Given the description of an element on the screen output the (x, y) to click on. 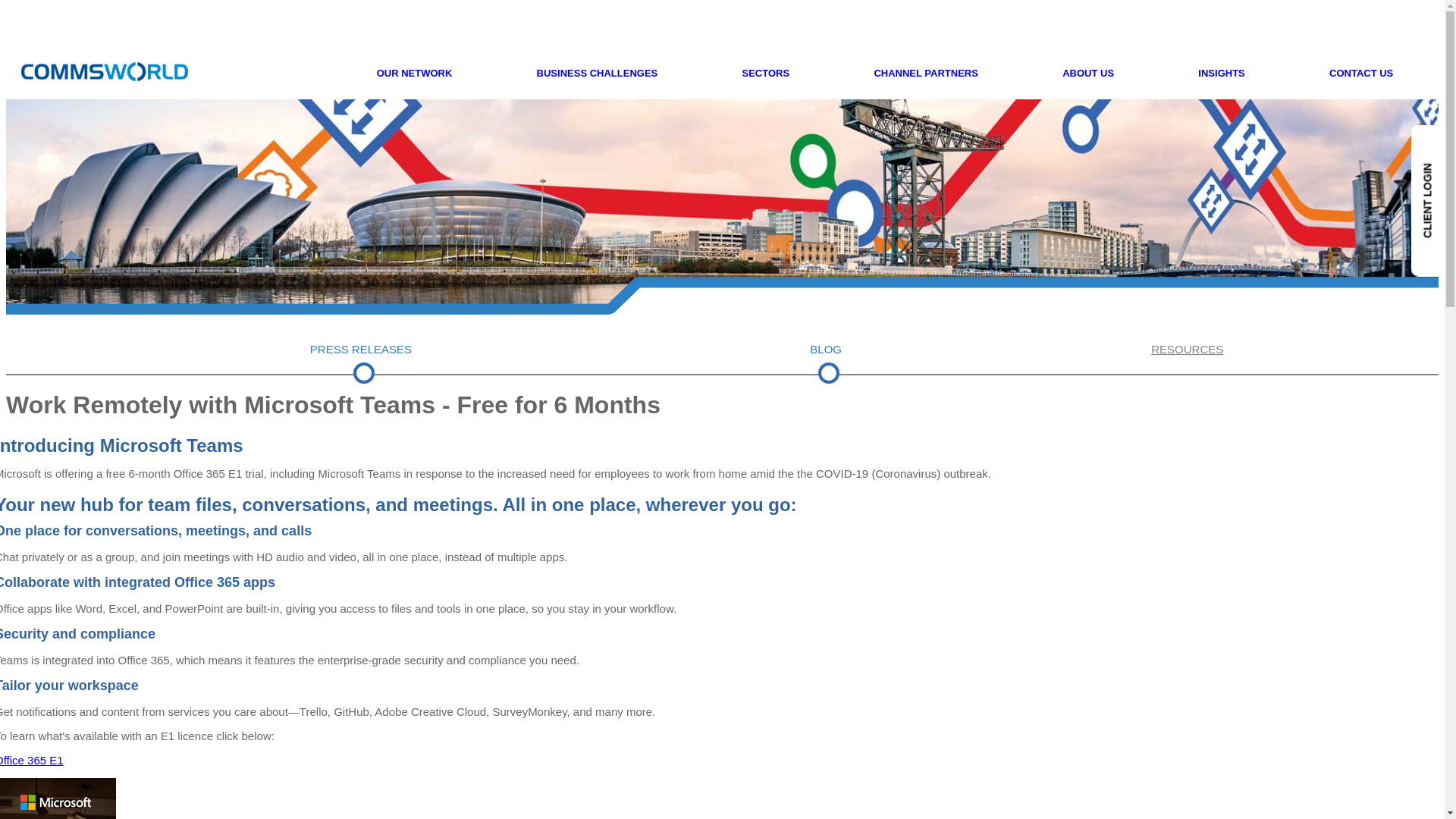
BUSINESS CHALLENGES (597, 72)
OUR NETWORK (414, 72)
CHANNEL PARTNERS (924, 72)
SECTORS (766, 72)
